Given the description of an element on the screen output the (x, y) to click on. 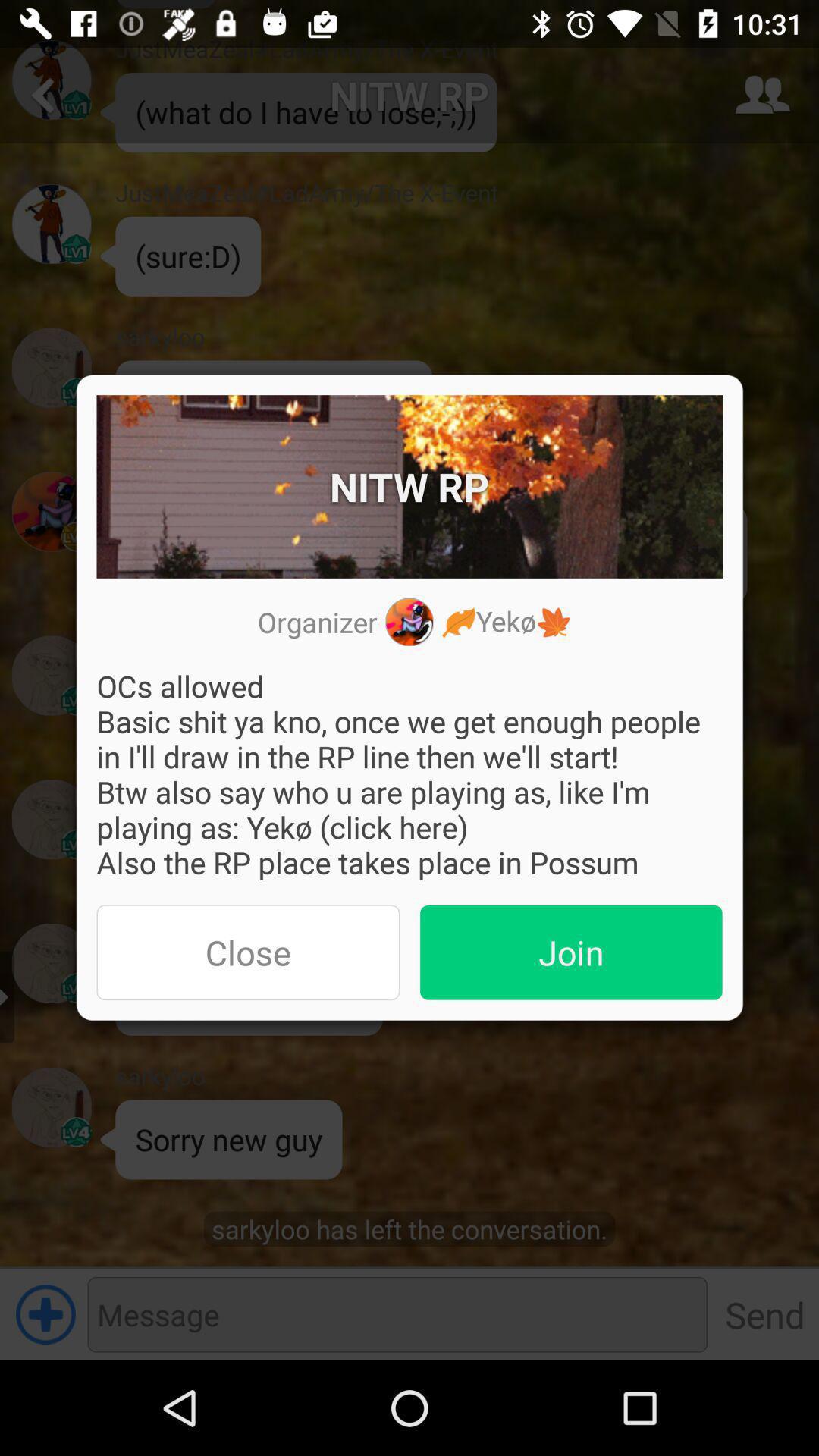
launch the button to the right of the close item (570, 952)
